Given the description of an element on the screen output the (x, y) to click on. 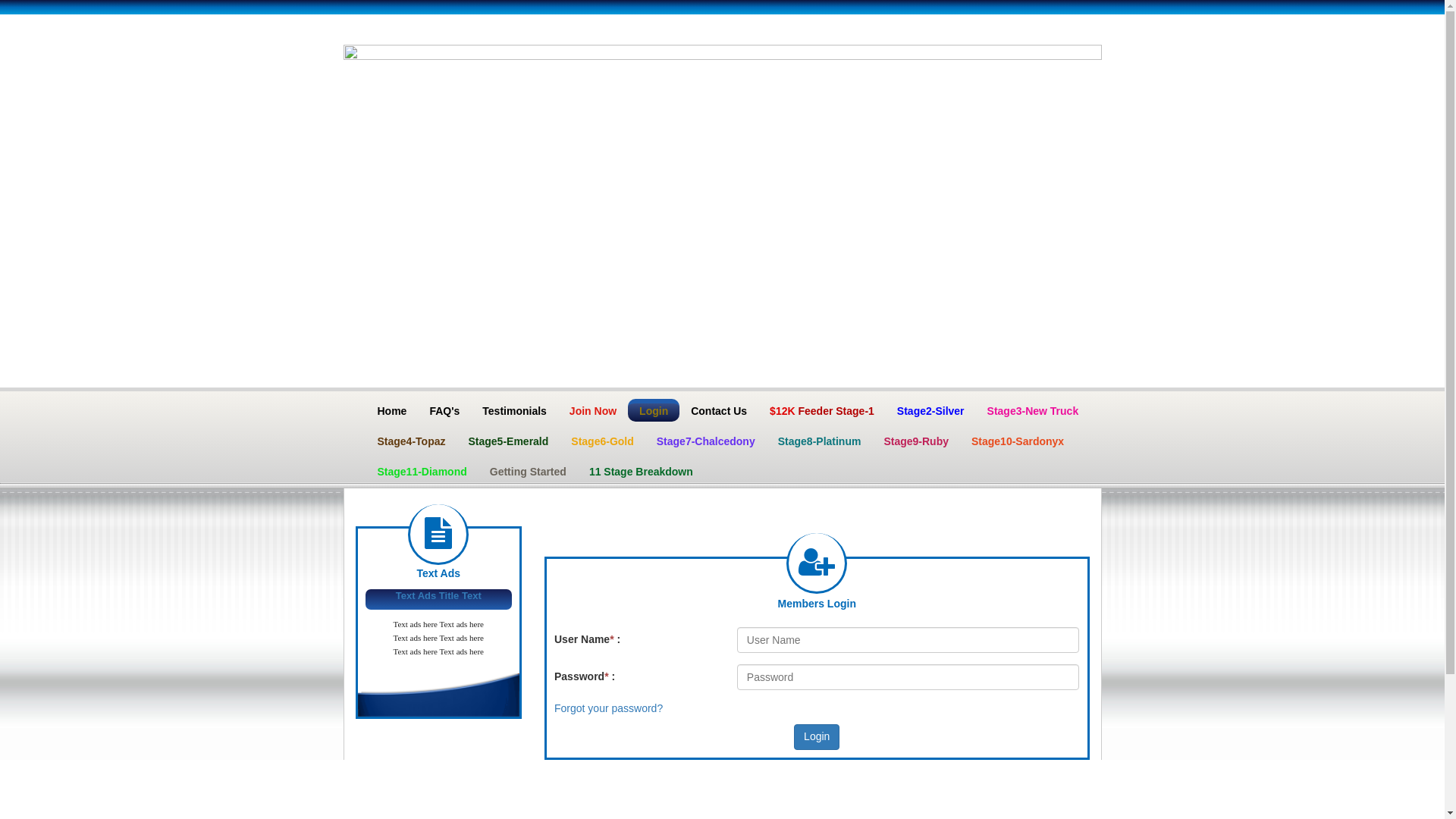
Login Element type: text (653, 409)
Stage4-Topaz Element type: text (410, 440)
Stage5-Emerald Element type: text (507, 440)
Stage9-Ruby Element type: text (916, 440)
Stage10-Sardonyx Element type: text (1017, 440)
Stage11-Diamond Element type: text (421, 470)
$12K Feeder Stage-1 Element type: text (821, 409)
Stage7-Chalcedony Element type: text (705, 440)
Text Ads Title Text Element type: text (438, 595)
Stage8-Platinum Element type: text (819, 440)
Getting Started Element type: text (527, 470)
FAQ's Element type: text (443, 409)
Testimonials Element type: text (514, 409)
11 Stage Breakdown Element type: text (640, 470)
Home Element type: text (391, 409)
Forgot your password? Element type: text (608, 708)
Stage6-Gold Element type: text (601, 440)
Login Element type: text (816, 736)
Stage3-New Truck Element type: text (1032, 409)
Stage2-Silver Element type: text (930, 409)
Contact Us Element type: text (718, 409)
Join Now Element type: text (592, 409)
